Given the description of an element on the screen output the (x, y) to click on. 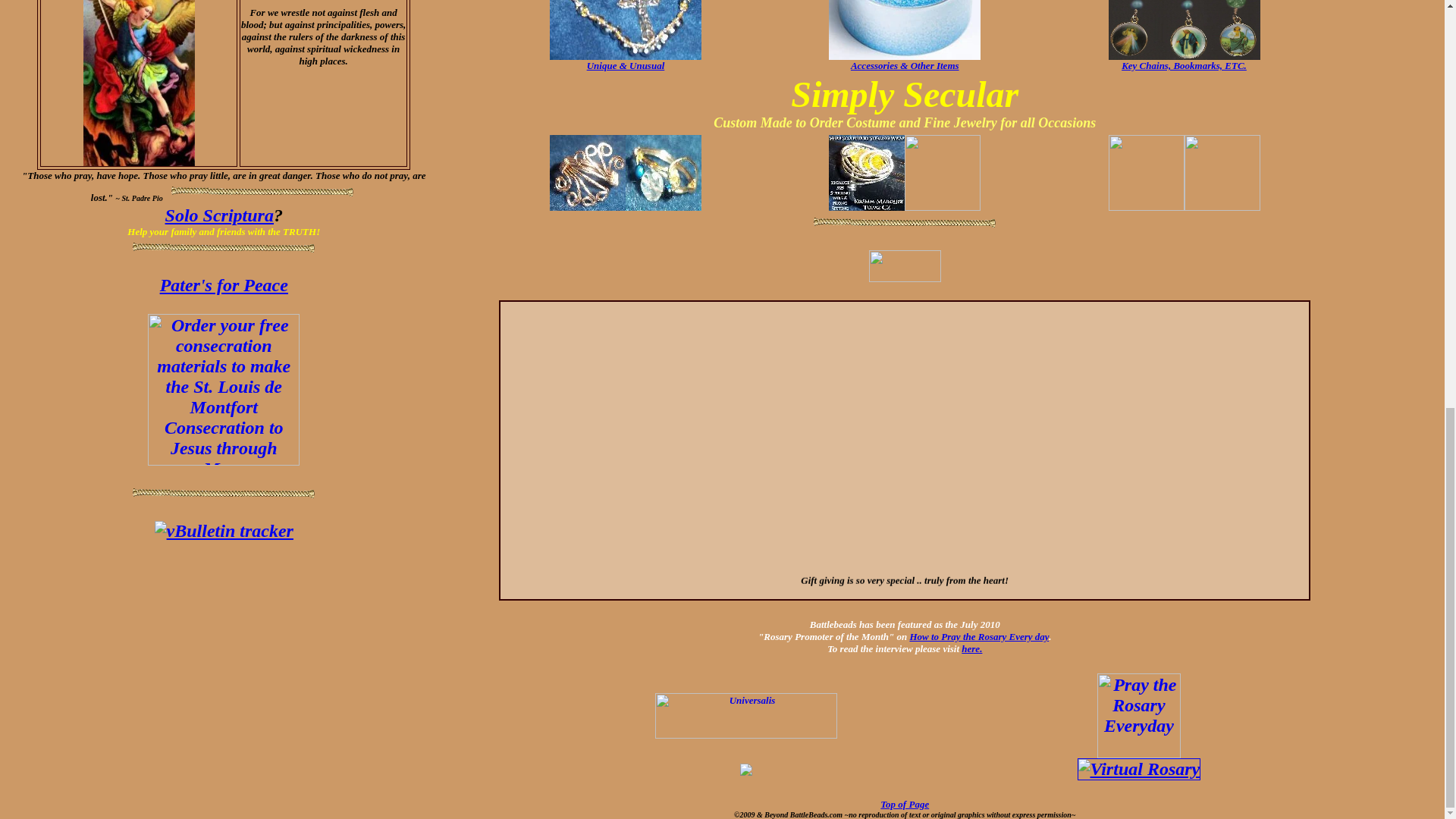
Solo Scriptura (219, 215)
Pater's for Peace (224, 284)
Battlebeads.com interview (970, 648)
vBulletin tracker (224, 530)
How To Pray The Rosary Everyday (1138, 682)
